Given the description of an element on the screen output the (x, y) to click on. 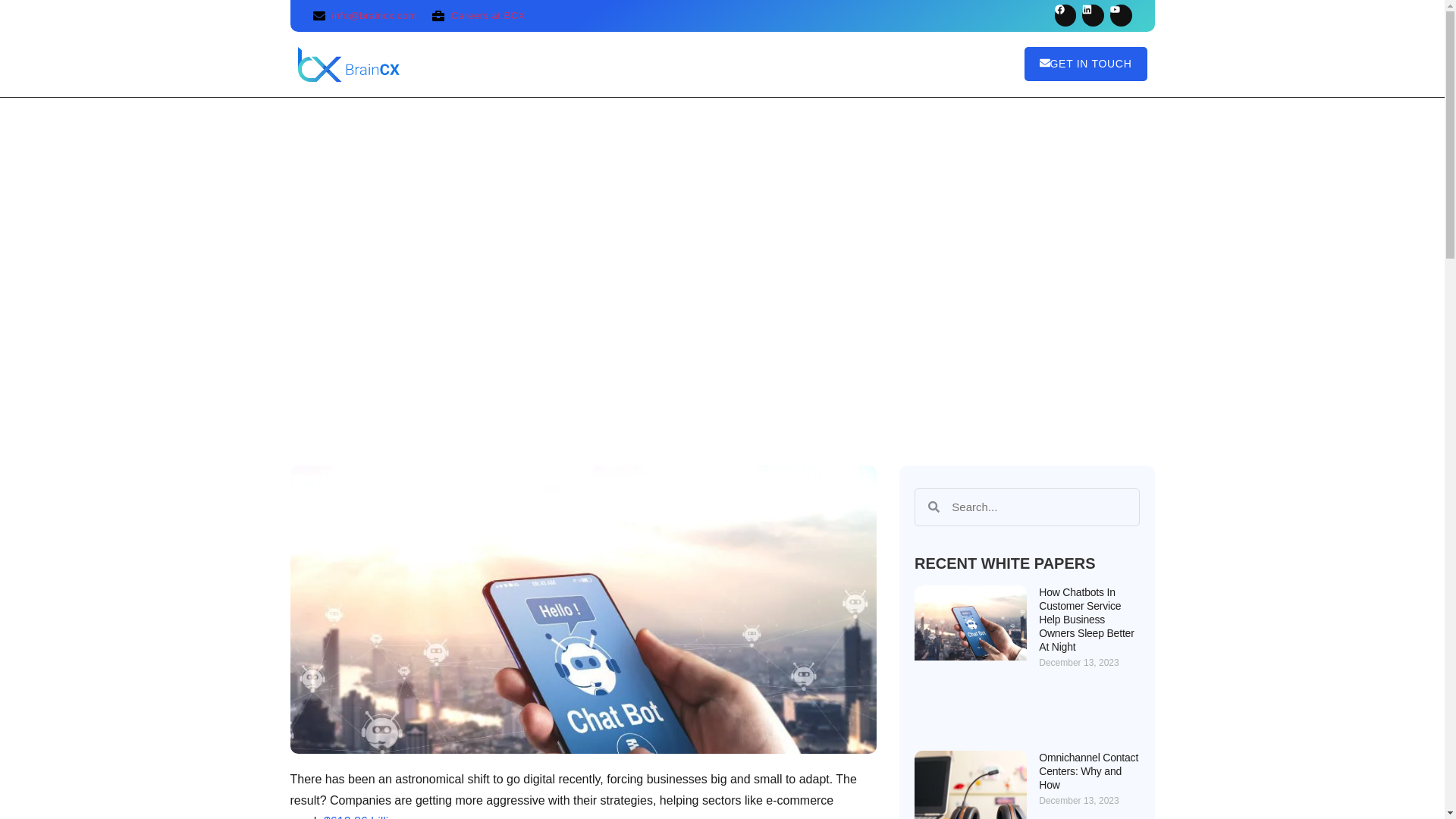
U Cqy8nwis Z92z Wfjym1l Ej4q (1120, 15)
Braincx (1065, 15)
careers.braincx.com (478, 15)
Solutions (644, 64)
About Us (552, 64)
Careers at BCX (478, 15)
Brayncx (1092, 15)
Braincx Inc. (347, 63)
About Us (552, 64)
